Given the description of an element on the screen output the (x, y) to click on. 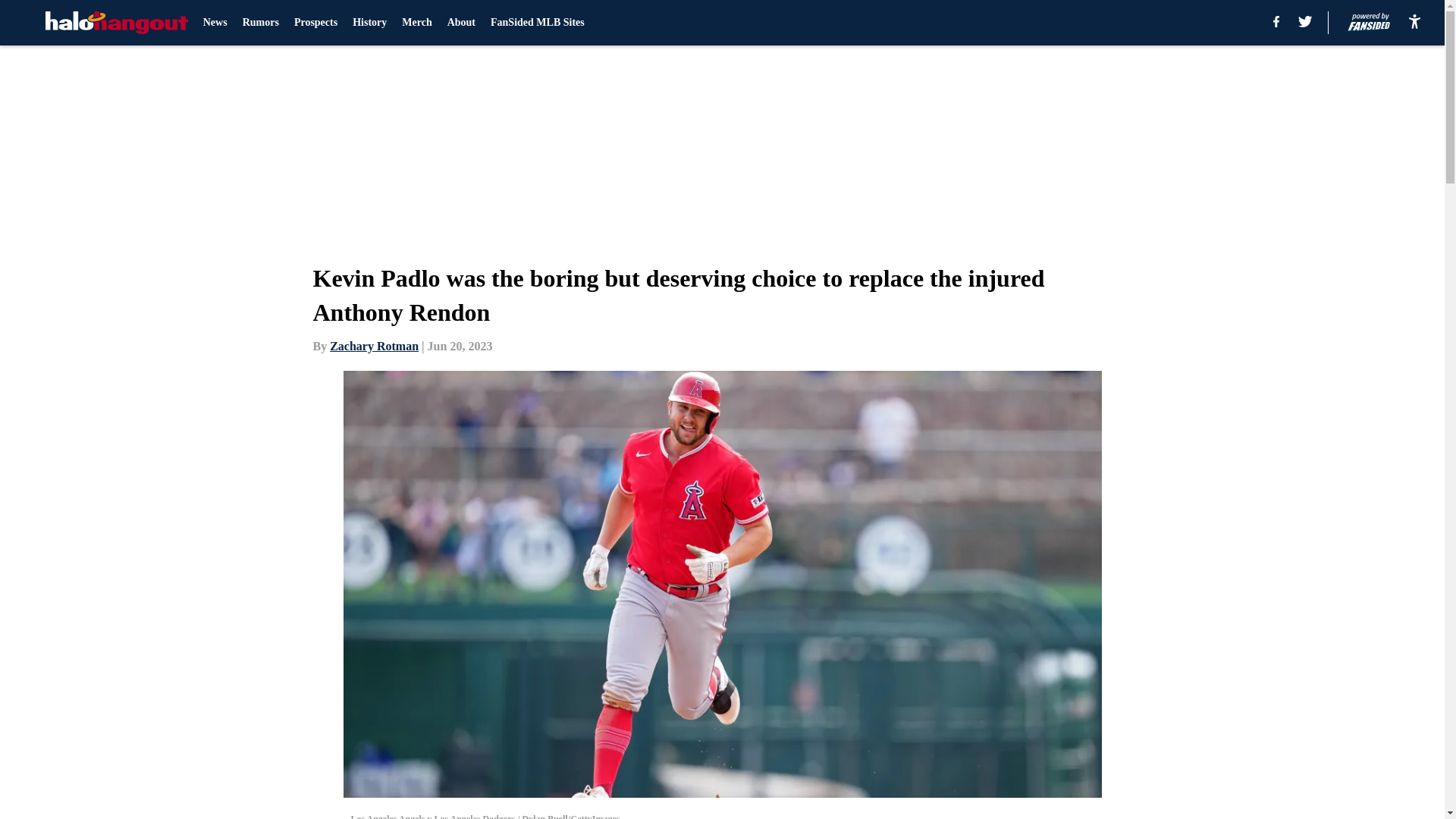
Merch (415, 22)
News (215, 22)
History (369, 22)
Rumors (261, 22)
FanSided MLB Sites (537, 22)
Zachary Rotman (374, 345)
About (461, 22)
Prospects (315, 22)
